Given the description of an element on the screen output the (x, y) to click on. 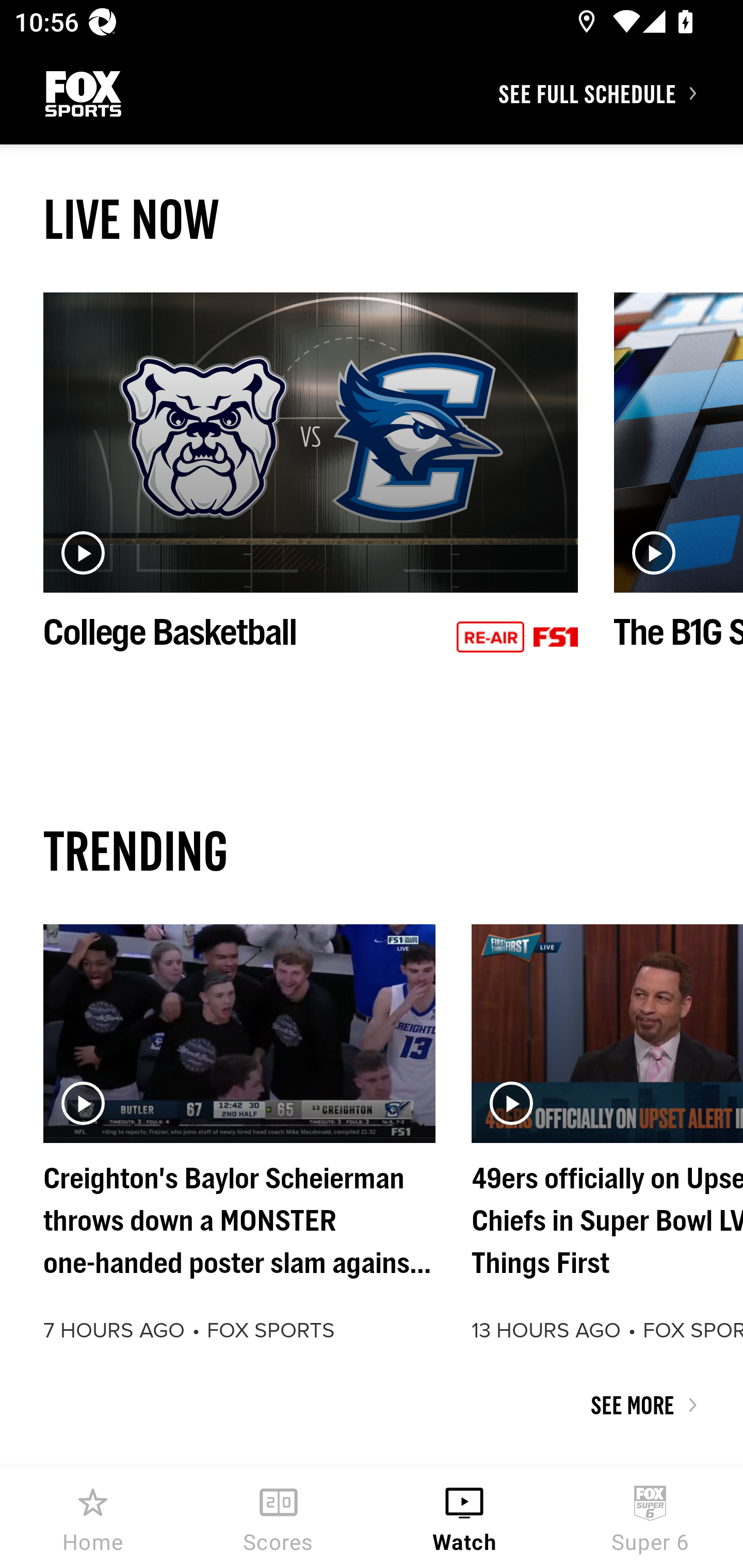
SEE FULL SCHEDULE (620, 93)
LIVE NOW (371, 218)
College Basketball (310, 494)
TRENDING (371, 850)
SEE MORE (371, 1404)
Home (92, 1517)
Scores (278, 1517)
Super 6 (650, 1517)
